Given the description of an element on the screen output the (x, y) to click on. 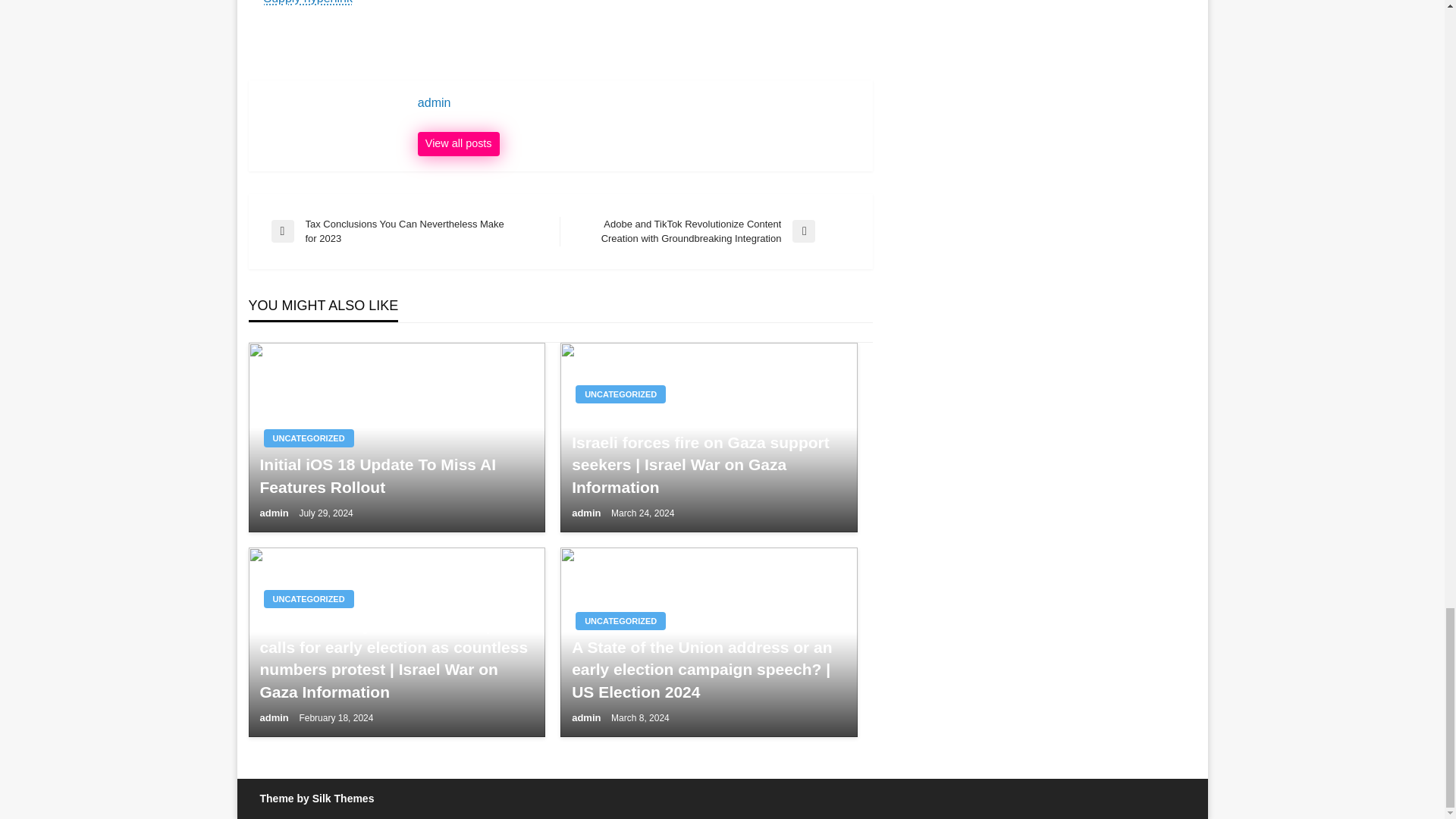
admin (458, 143)
admin (637, 102)
View all posts (458, 143)
admin (588, 512)
admin (275, 717)
admin (637, 102)
admin (588, 717)
Supply hyperlink (307, 2)
admin (275, 512)
UNCATEGORIZED (308, 598)
Initial iOS 18 Update To Miss AI Features Rollout (396, 475)
UNCATEGORIZED (308, 438)
UNCATEGORIZED (620, 620)
